Given the description of an element on the screen output the (x, y) to click on. 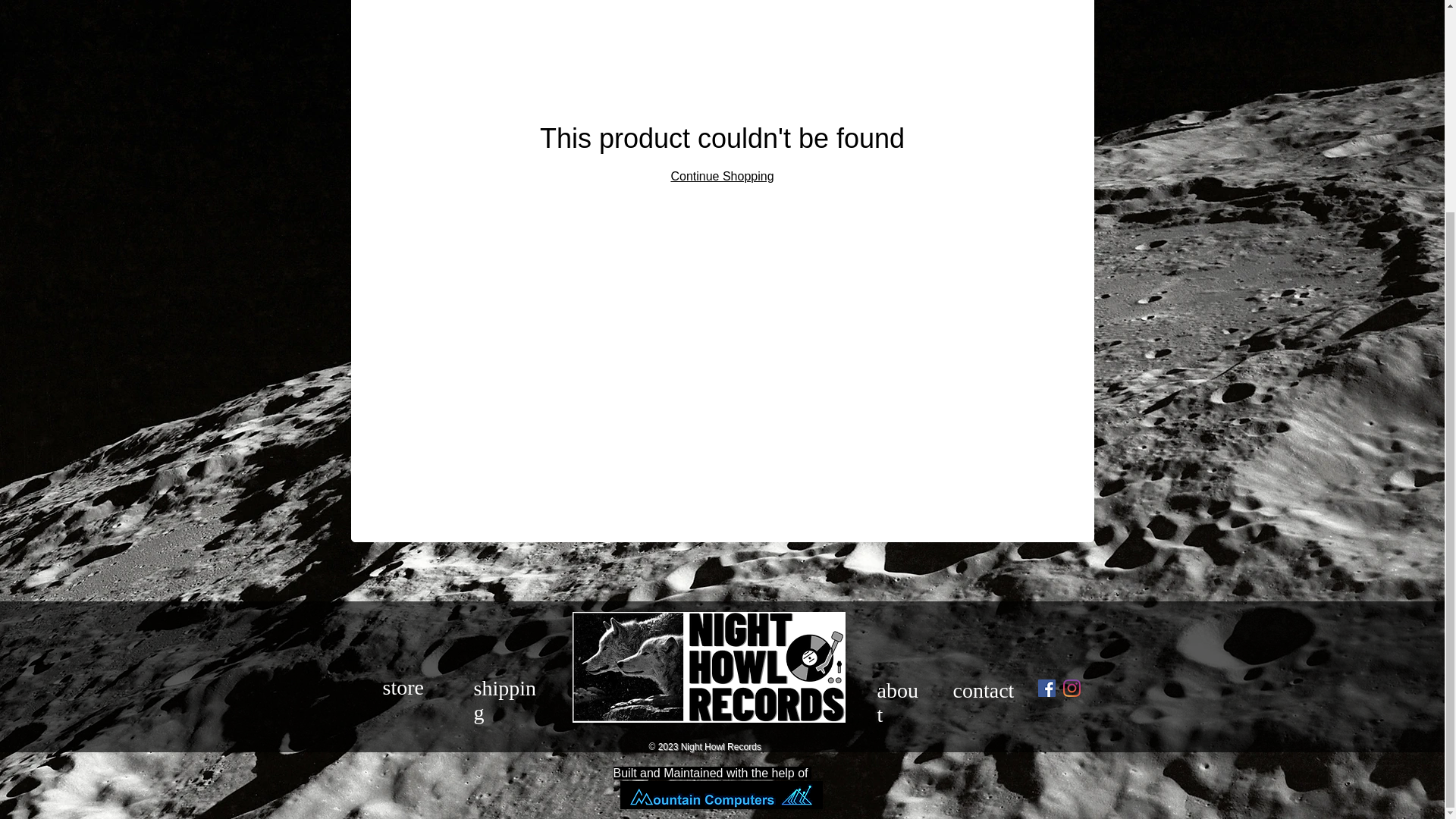
contact (982, 689)
shipping (504, 699)
Continue Shopping (721, 175)
Built and Maintained with the help of  (711, 772)
store (402, 687)
